Given the description of an element on the screen output the (x, y) to click on. 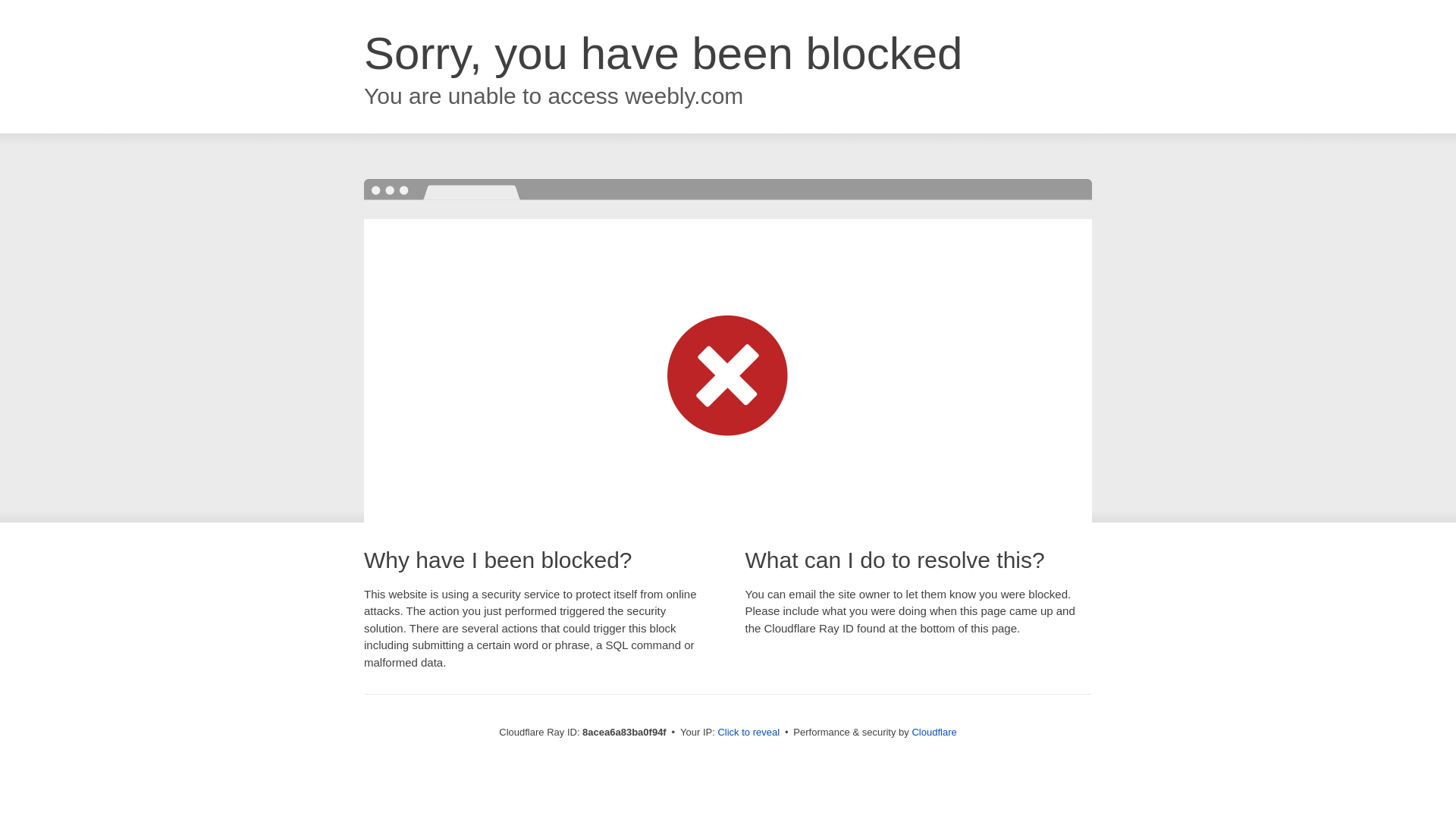
Click to reveal (747, 732)
Cloudflare (933, 731)
